Given the description of an element on the screen output the (x, y) to click on. 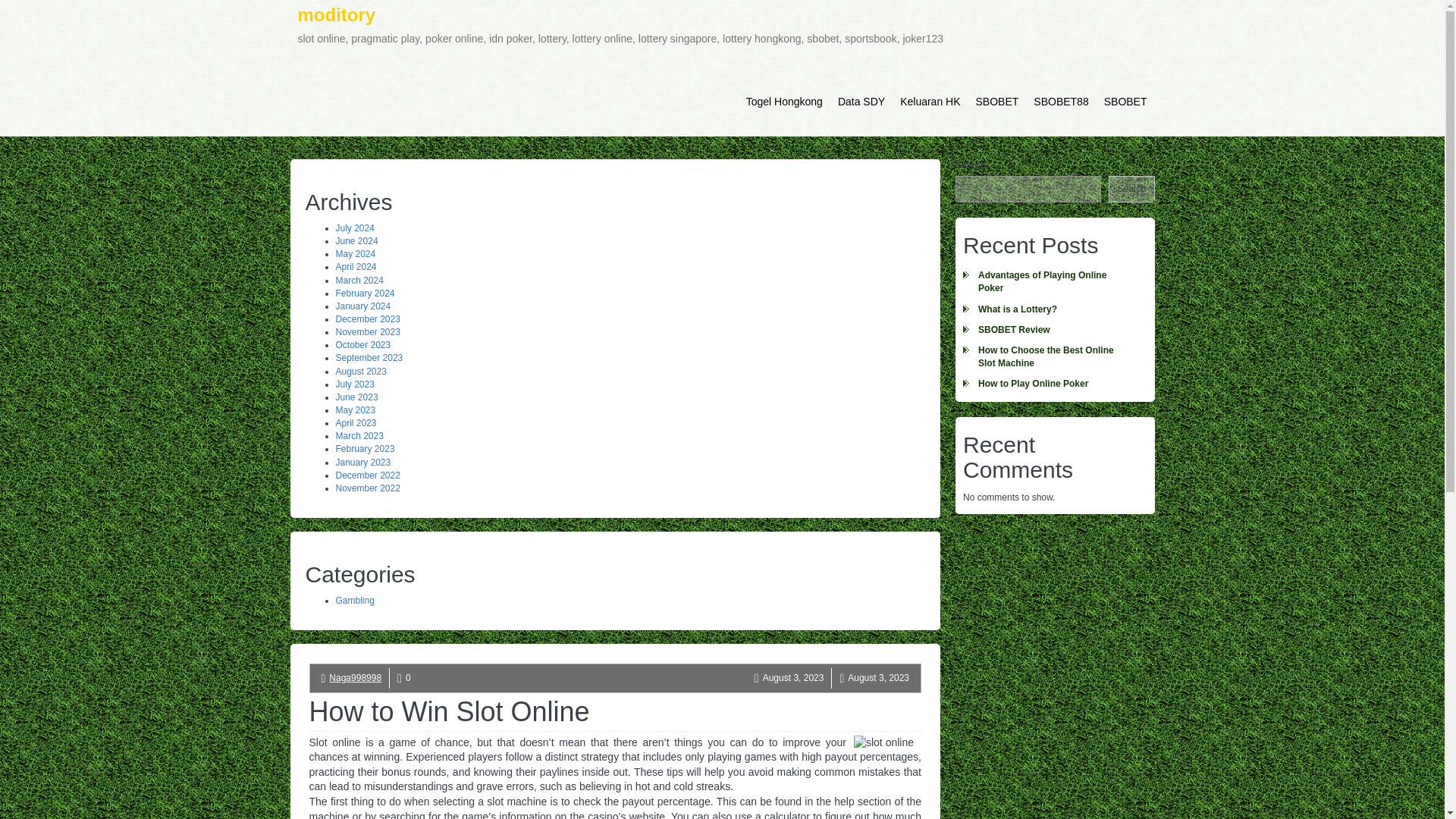
February 2023 (364, 448)
How to Choose the Best Online Slot Machine (1054, 356)
SBOBET88 (1061, 101)
June 2023 (355, 397)
January 2023 (362, 462)
September 2023 (368, 357)
November 2022 (366, 488)
March 2024 (358, 280)
May 2024 (354, 253)
August 2023 (359, 371)
December 2022 (366, 475)
December 2023 (366, 318)
Data SDY (860, 101)
April 2023 (354, 422)
November 2023 (366, 331)
